Given the description of an element on the screen output the (x, y) to click on. 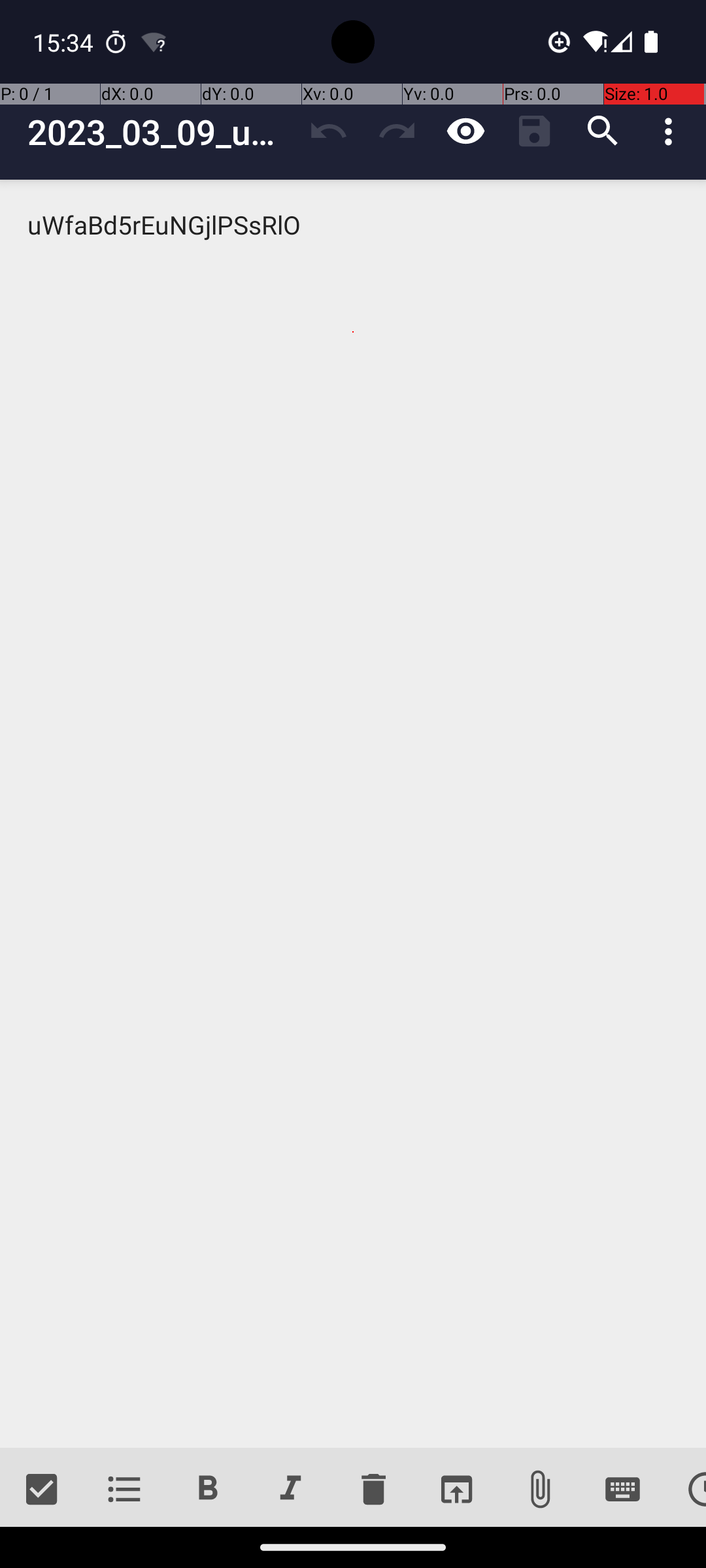
2023_03_09_upcoming_presentation_outline Element type: android.widget.TextView (160, 131)
uWfaBd5rEuNGjlPSsRlO
 Element type: android.widget.EditText (353, 813)
